Given the description of an element on the screen output the (x, y) to click on. 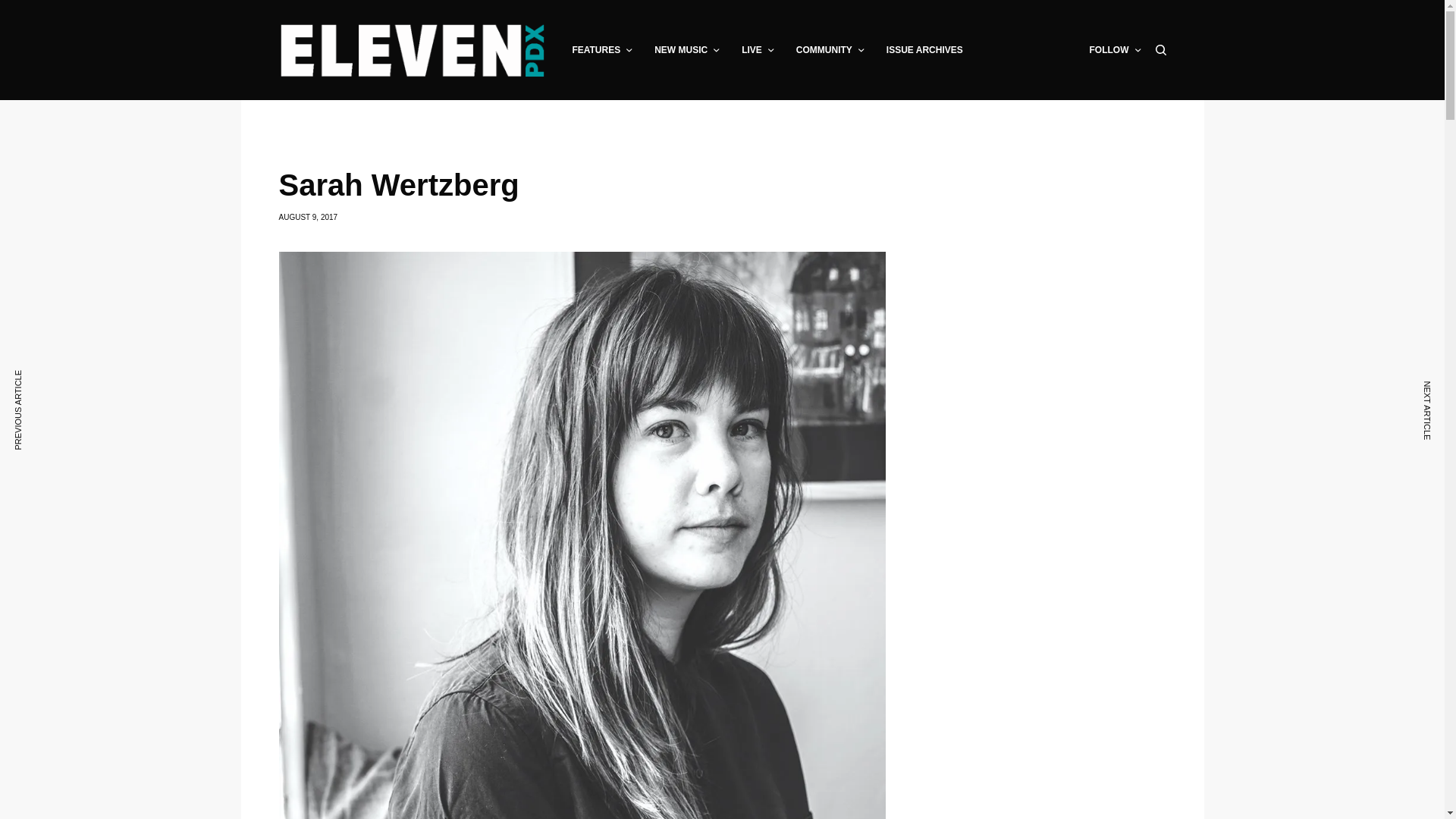
Eleven PDX (412, 49)
